Given the description of an element on the screen output the (x, y) to click on. 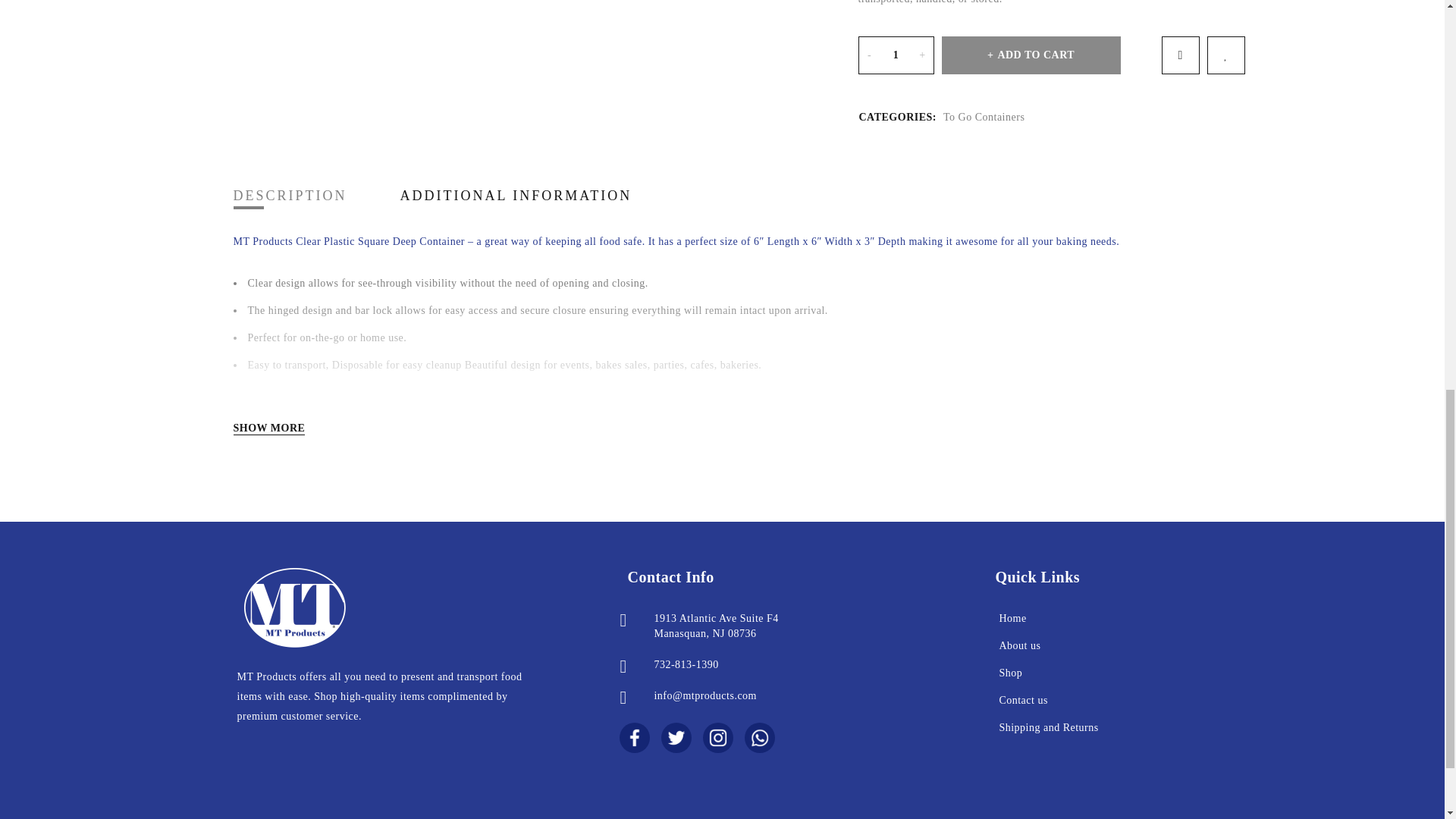
1 (896, 55)
